Given the description of an element on the screen output the (x, y) to click on. 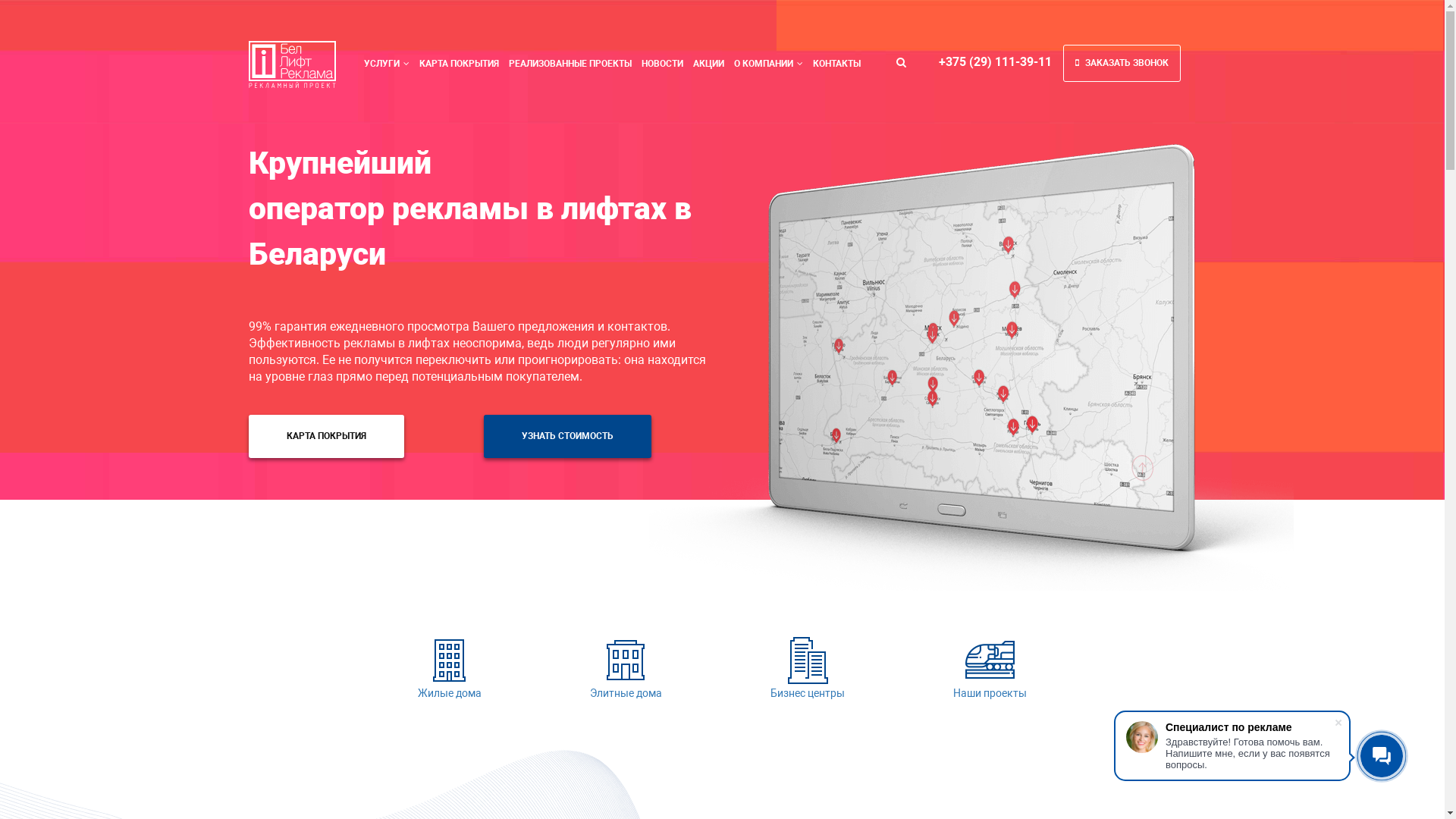
+375 (29) 111-39-11 Element type: text (994, 61)
